Given the description of an element on the screen output the (x, y) to click on. 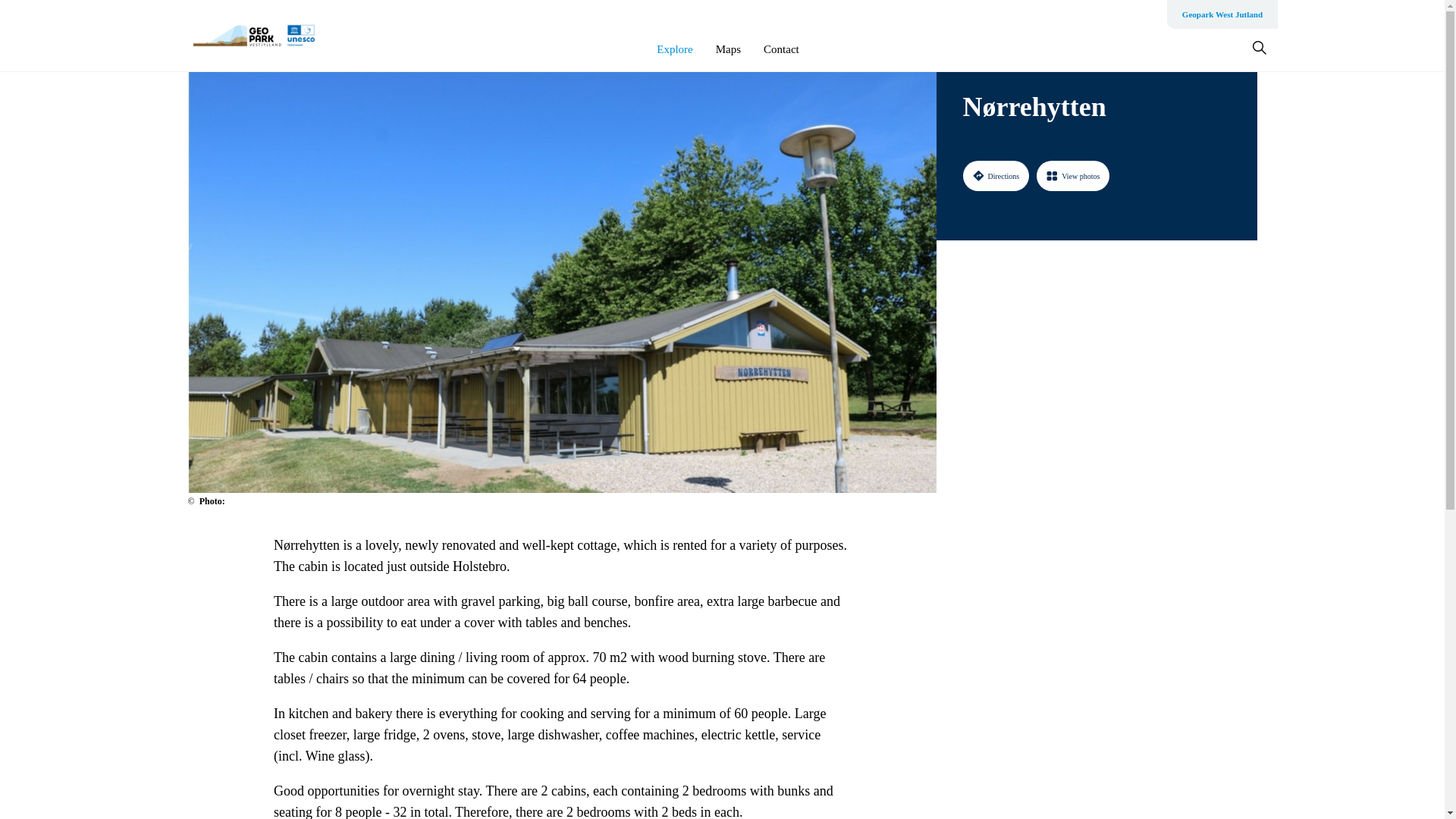
Directions (995, 175)
Go to homepage (253, 35)
Geopark West Jutland (1221, 14)
Explore (674, 49)
View photos (1072, 175)
Maps (728, 49)
Contact (780, 49)
